Given the description of an element on the screen output the (x, y) to click on. 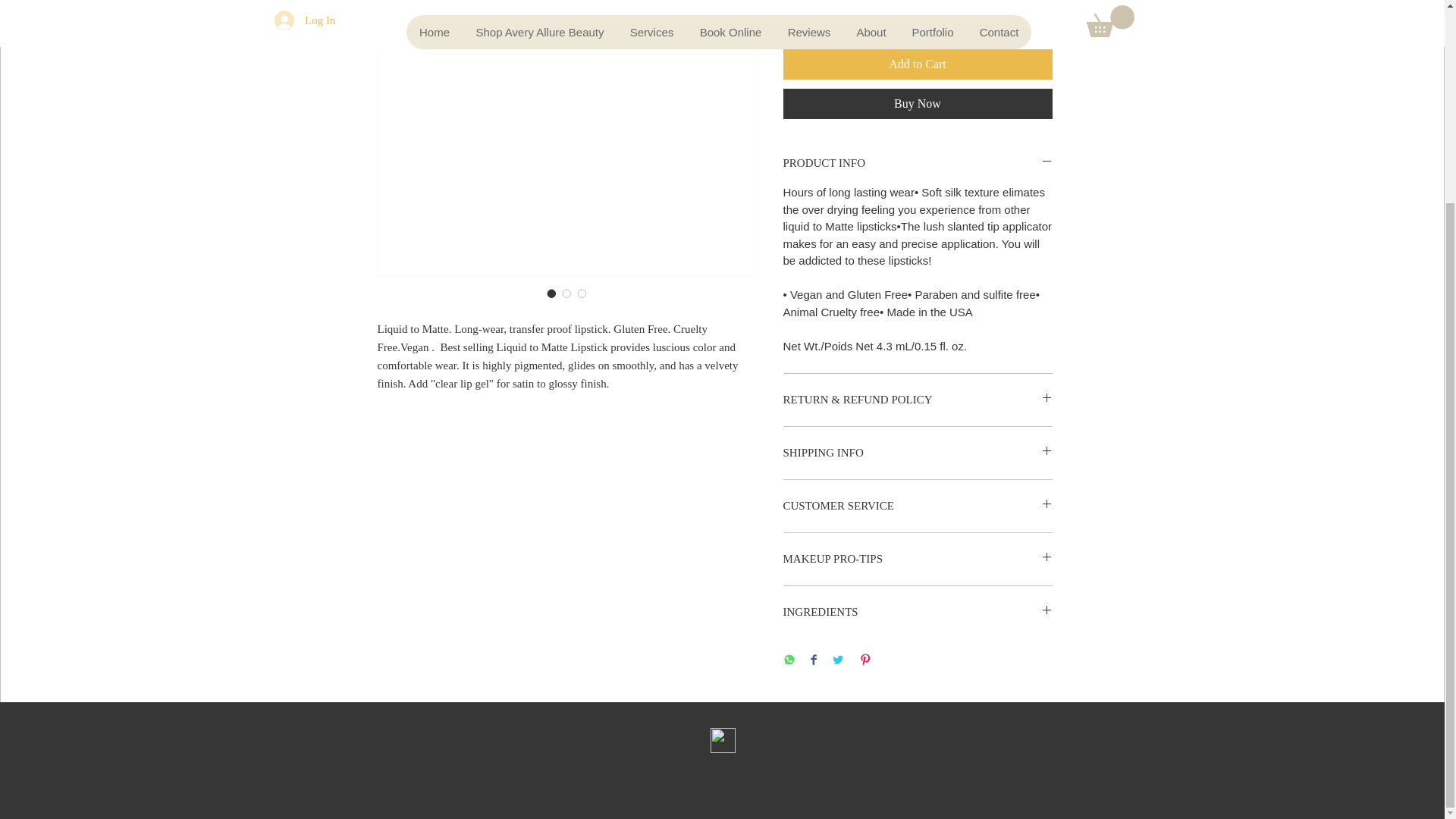
CUSTOMER SERVICE (917, 505)
Add to Cart (917, 64)
SHIPPING INFO (917, 453)
1 (811, 12)
PRODUCT INFO (917, 163)
MAKEUP PRO-TIPS (917, 559)
INGREDIENTS (917, 611)
Buy Now (917, 103)
